Given the description of an element on the screen output the (x, y) to click on. 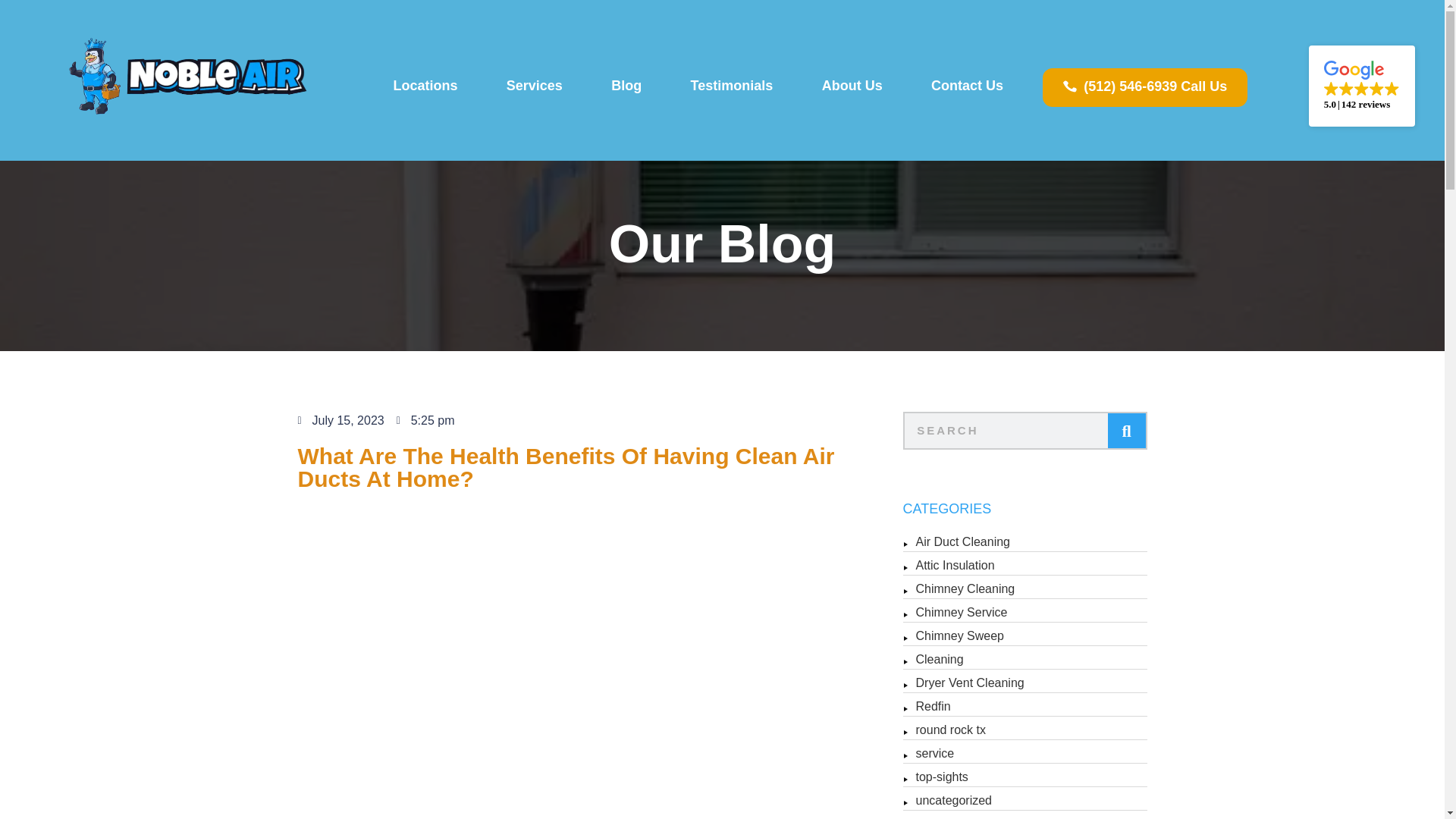
5.0142 reviews (1361, 85)
Testimonials (730, 85)
Locations (424, 85)
About Us (850, 85)
Services (533, 85)
Blog (625, 85)
Contact Us (967, 85)
